Given the description of an element on the screen output the (x, y) to click on. 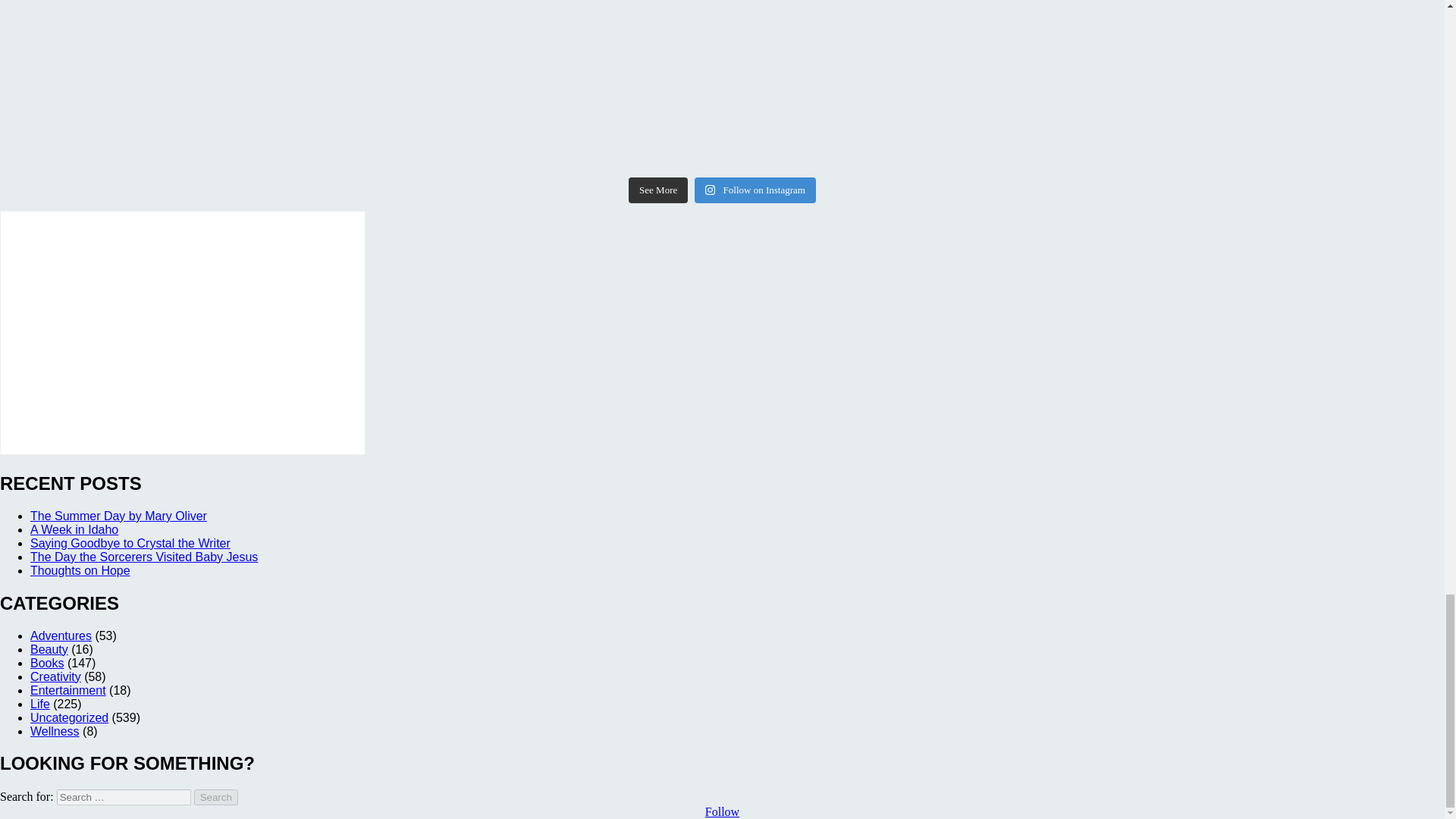
Follow on Instagram (754, 190)
See More (657, 190)
A Week in Idaho (73, 529)
Search (215, 797)
Search (215, 797)
The Summer Day by Mary Oliver (118, 515)
